Given the description of an element on the screen output the (x, y) to click on. 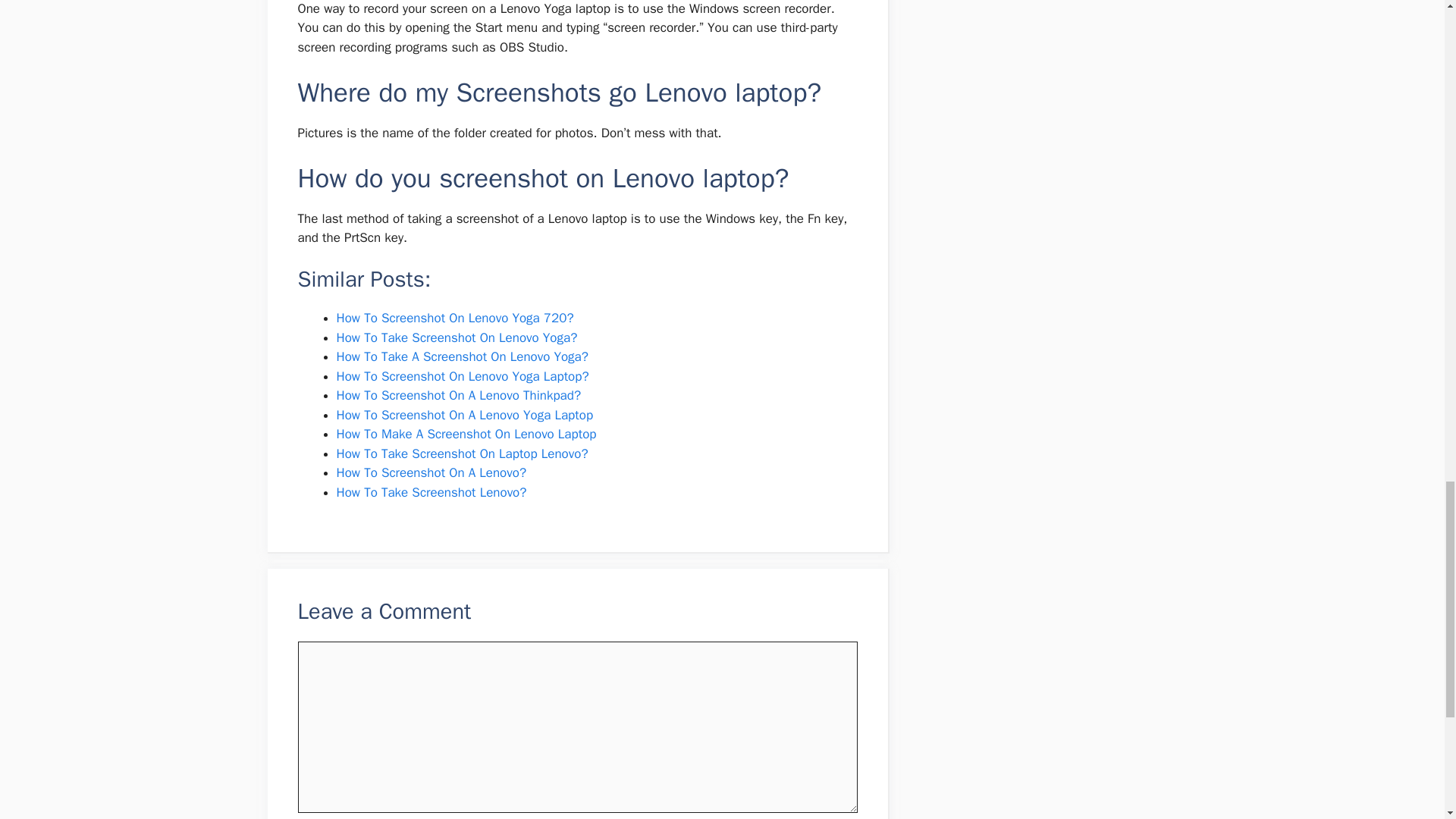
How To Screenshot On A Lenovo Yoga Laptop (465, 415)
How To Take Screenshot Lenovo? (431, 492)
How To Screenshot On Lenovo Yoga Laptop? (462, 376)
How To Screenshot On A Lenovo Thinkpad? (458, 395)
How To Screenshot On Lenovo Yoga 720? (454, 317)
How To Screenshot On A Lenovo Yoga Laptop (465, 415)
How To Take Screenshot Lenovo? (431, 492)
How To Make A Screenshot On Lenovo Laptop (466, 433)
How To Take Screenshot On Lenovo Yoga? (457, 337)
How To Make A Screenshot On Lenovo Laptop (466, 433)
How To Take A Screenshot On Lenovo Yoga? (462, 356)
How To Screenshot On A Lenovo? (431, 472)
How To Take Screenshot On Laptop Lenovo? (462, 453)
How To Screenshot On A Lenovo Thinkpad? (458, 395)
How To Take Screenshot On Laptop Lenovo? (462, 453)
